Given the description of an element on the screen output the (x, y) to click on. 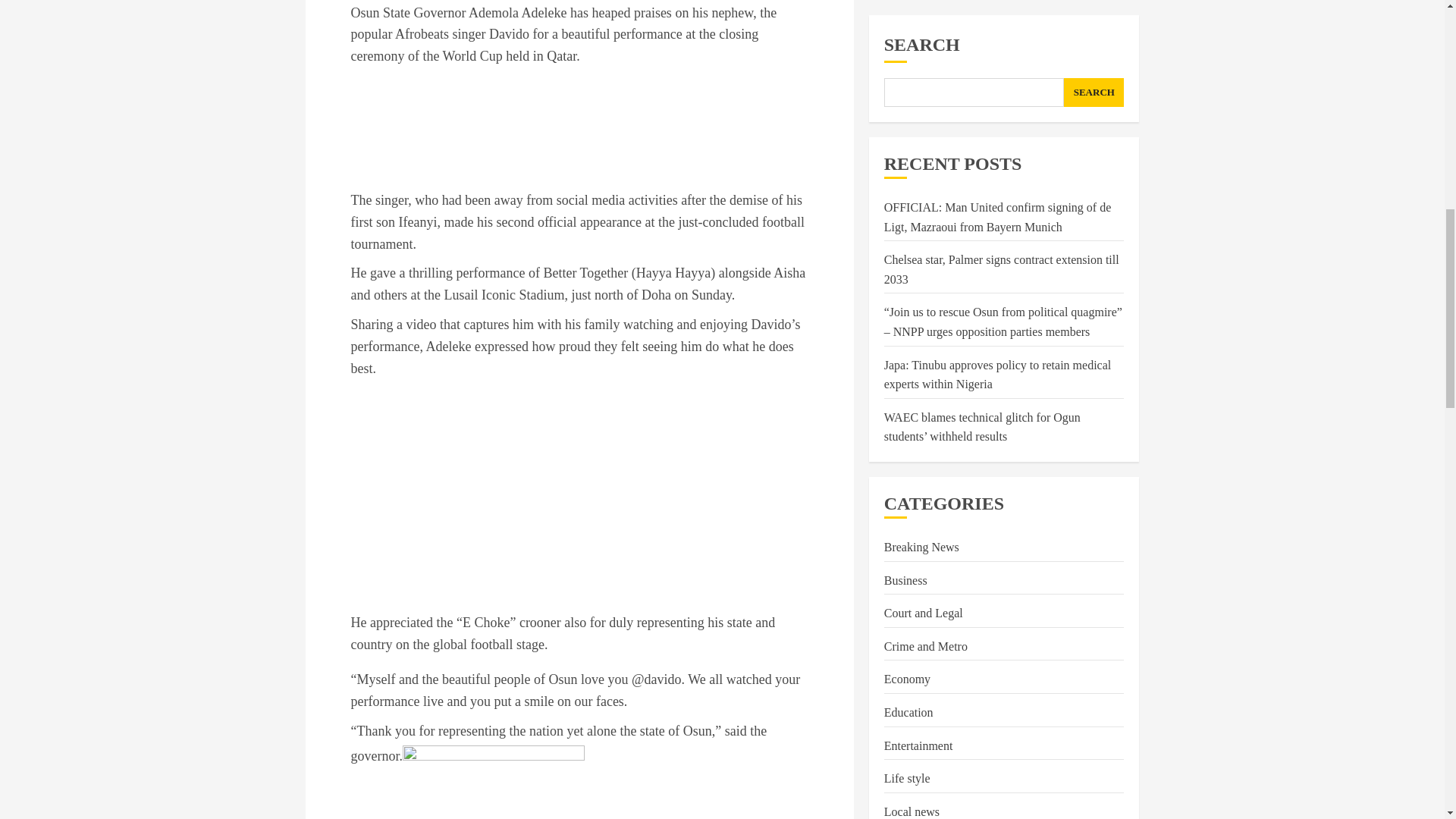
News (897, 660)
Court and Legal (922, 428)
Breaking News (921, 363)
Entertainment (918, 561)
Education (908, 528)
Crime and Metro (925, 462)
Life style (906, 594)
Business (905, 396)
Advertisement (579, 132)
Economy (906, 495)
